Given the description of an element on the screen output the (x, y) to click on. 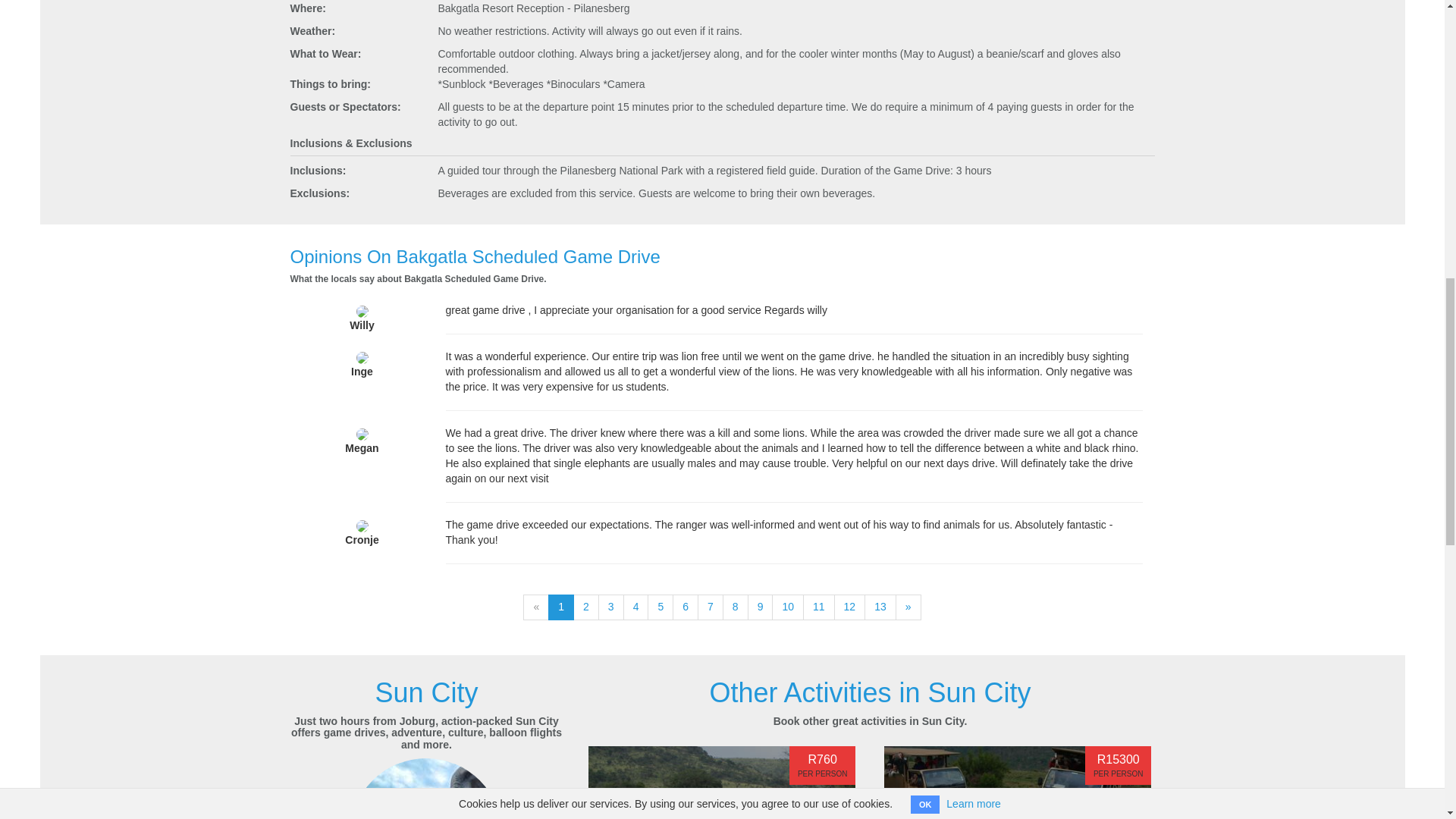
11 (818, 606)
12 (850, 606)
3 (611, 606)
4 (636, 606)
1 (560, 606)
10 (787, 606)
9 (760, 606)
5 (659, 606)
2 (585, 606)
7 (710, 606)
6 (685, 606)
13 (880, 606)
8 (735, 606)
